Given the description of an element on the screen output the (x, y) to click on. 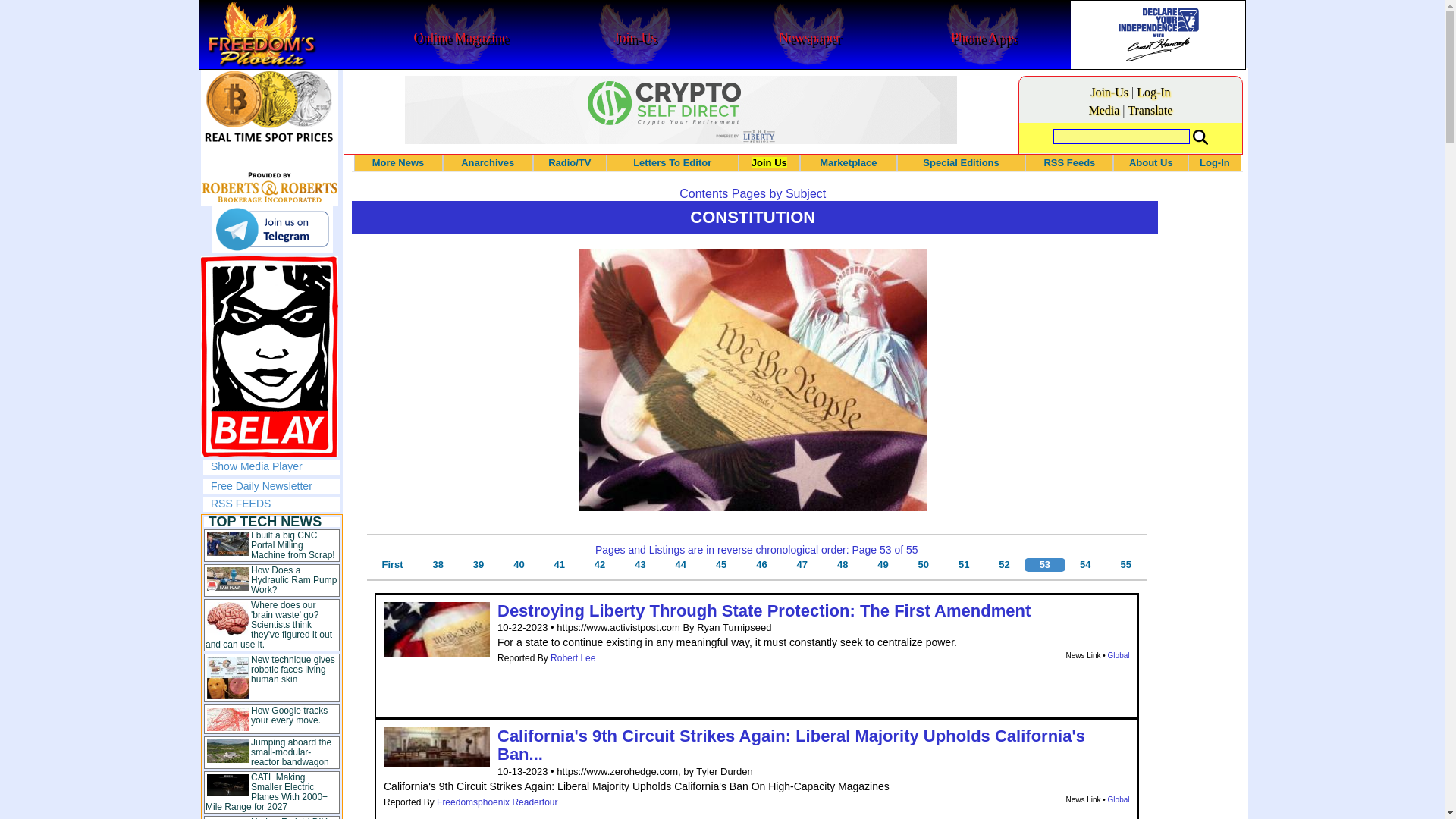
How Google tracks your every move. (288, 715)
RSS FEEDS (240, 503)
A quick description and demo of this ingenious pump. (293, 580)
Declare Your Independence on Telegram (271, 229)
Show Media Player (256, 466)
Free Daily Newsletter (262, 485)
I built a big CNC Portal Milling Machine from Scrap! (292, 544)
TOP TECH NEWS (264, 521)
New technique gives robotic faces living human skin (292, 669)
How Does a Hydraulic Ram Pump Work? (293, 580)
